Given the description of an element on the screen output the (x, y) to click on. 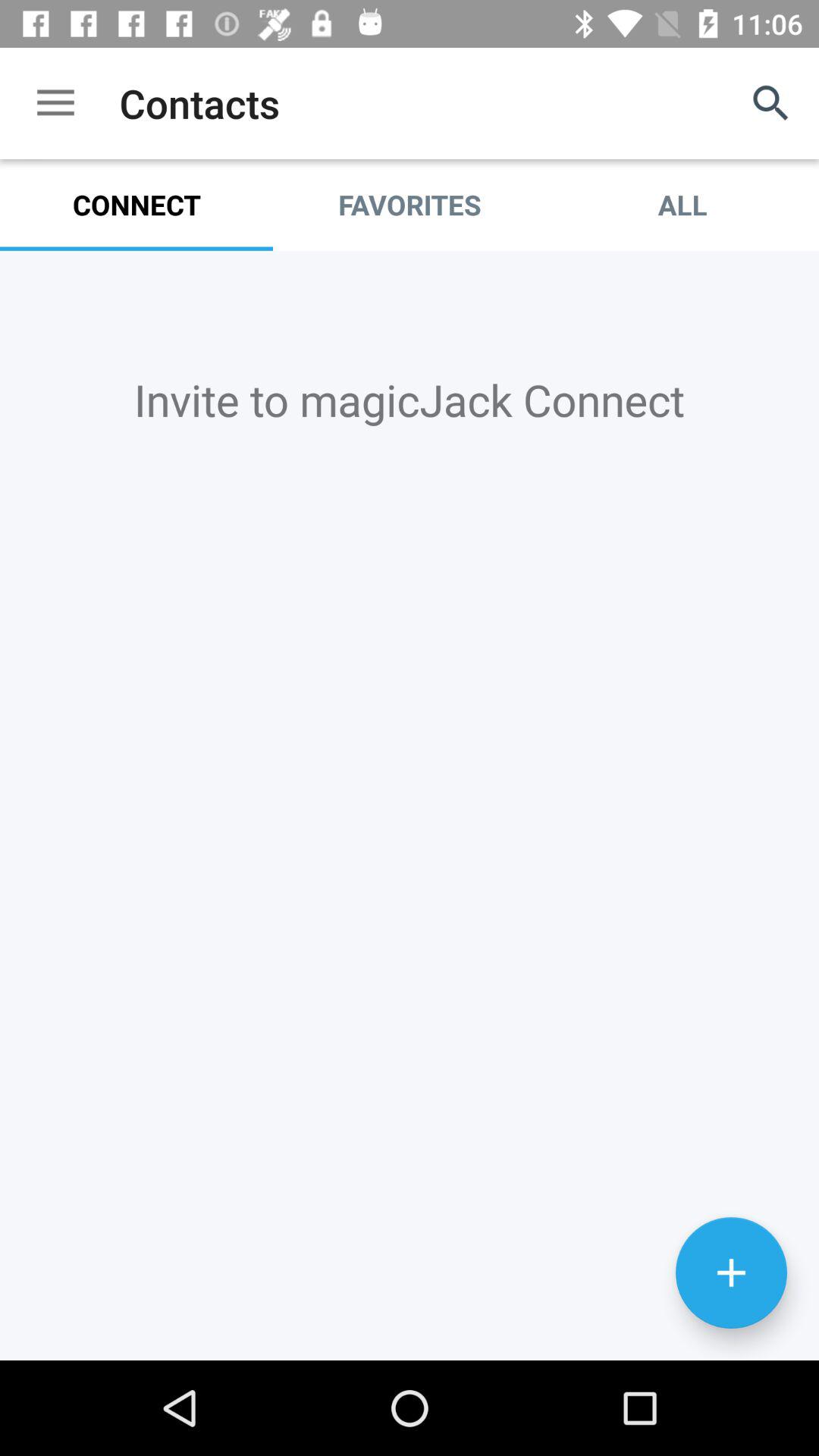
invite contact (731, 1272)
